Given the description of an element on the screen output the (x, y) to click on. 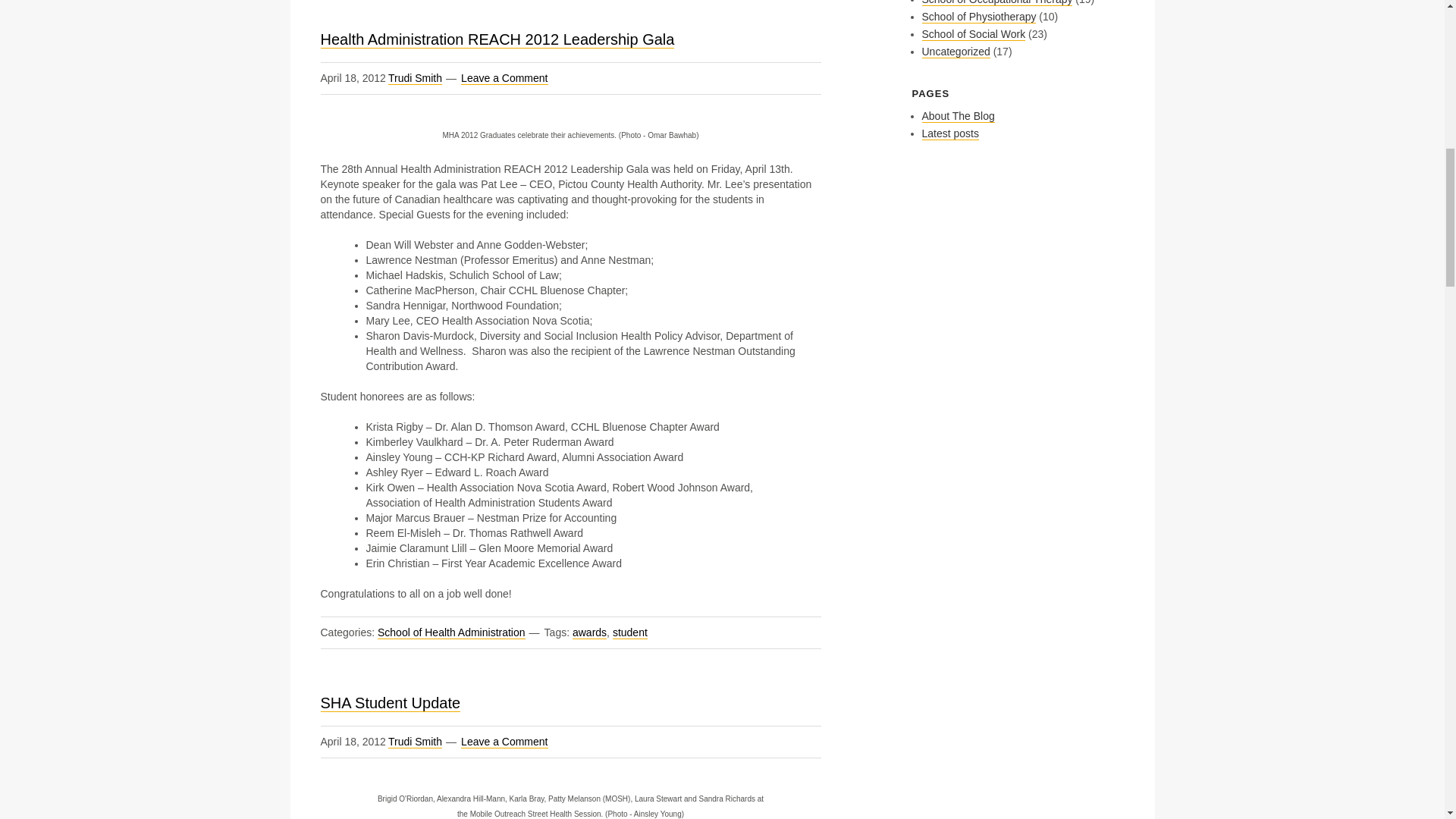
Health Administration REACH 2012 Leadership Gala (497, 39)
Trudi Smith (415, 741)
awards (589, 632)
Leave a Comment (504, 78)
Leave a Comment (504, 741)
Trudi Smith (415, 78)
student (629, 632)
School of Health Administration (451, 632)
SHA Student Update (390, 702)
